Given the description of an element on the screen output the (x, y) to click on. 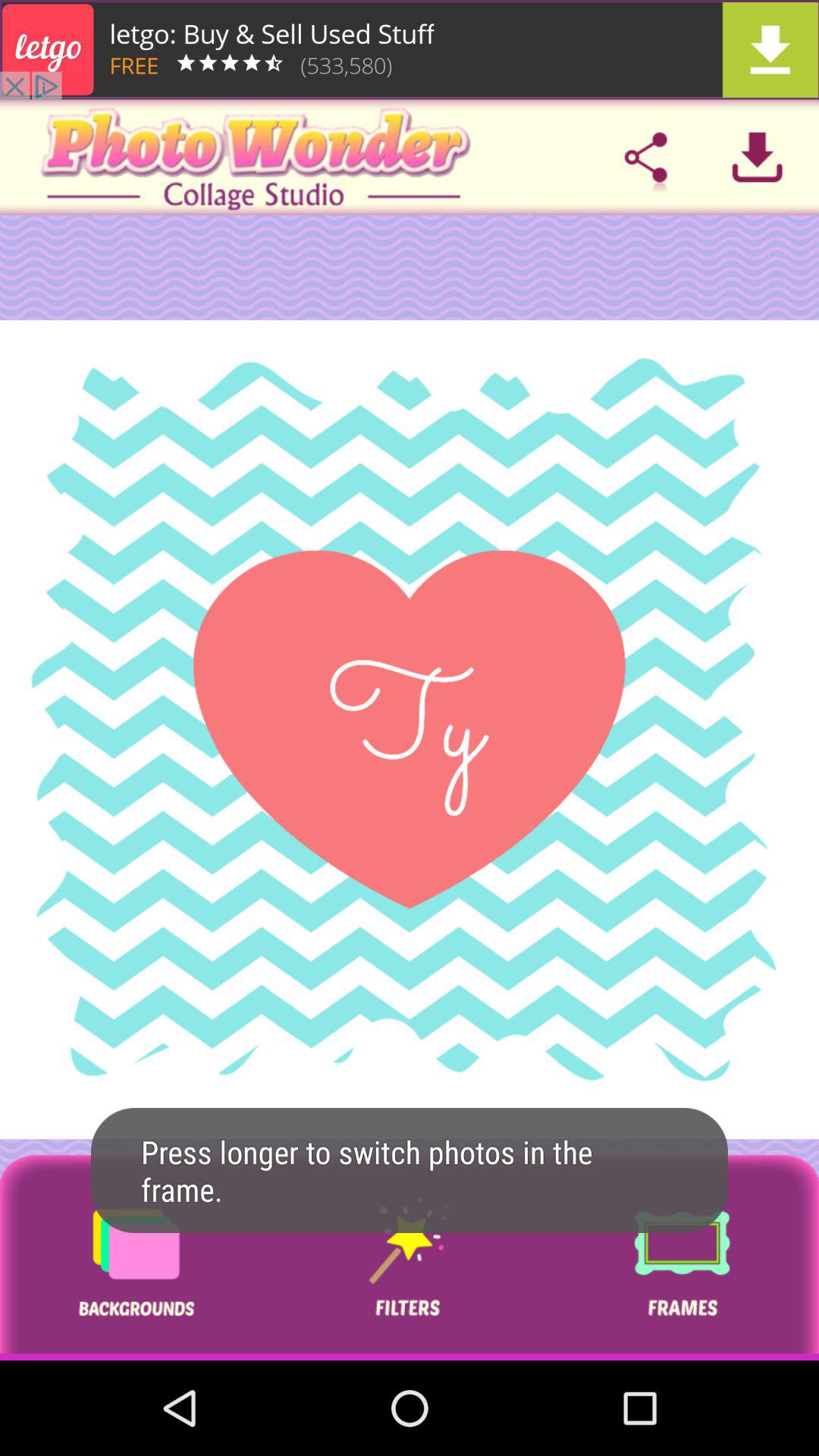
view more frames (681, 1257)
